Given the description of an element on the screen output the (x, y) to click on. 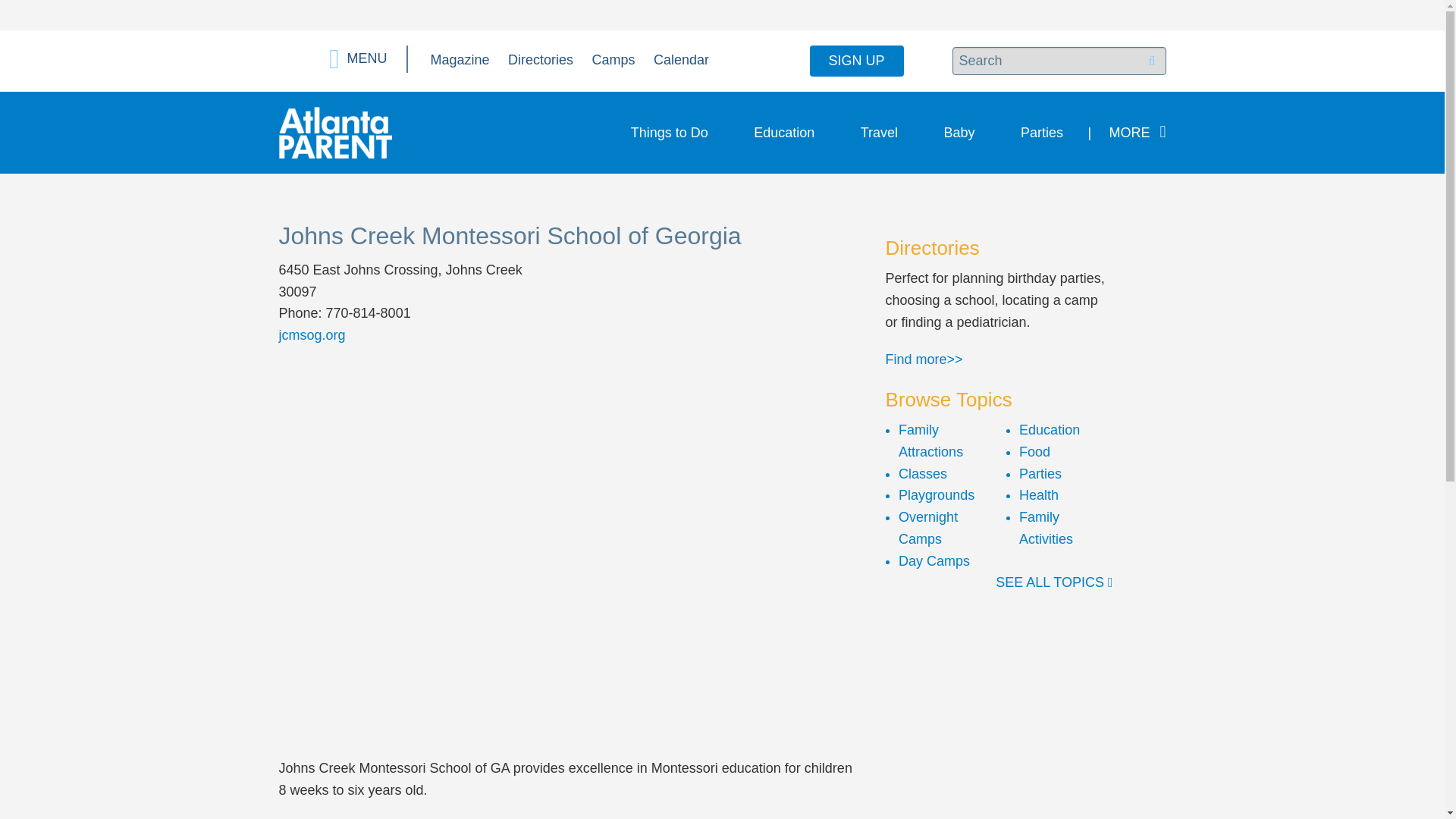
MENU (358, 58)
Calendar (681, 59)
Atlanta Parent (335, 131)
Magazine (459, 59)
Directories (540, 59)
Camps (612, 59)
SIGN UP (856, 60)
